Given the description of an element on the screen output the (x, y) to click on. 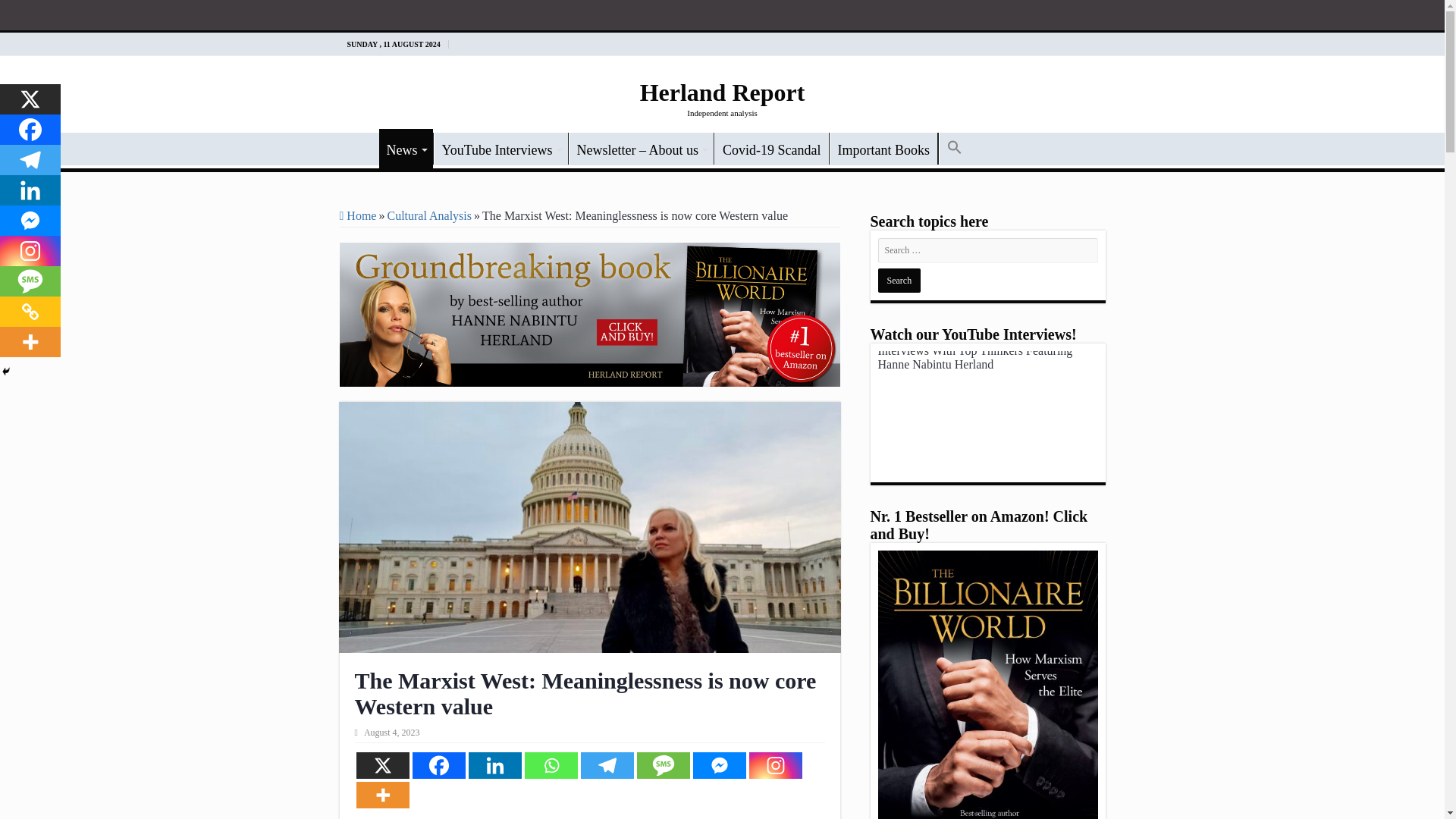
Facebook (30, 129)
Home (358, 215)
Important Books (883, 148)
X (30, 99)
Search (899, 280)
More (382, 795)
More (30, 341)
YouTube Interviews (500, 148)
Search (149, 12)
